Given the description of an element on the screen output the (x, y) to click on. 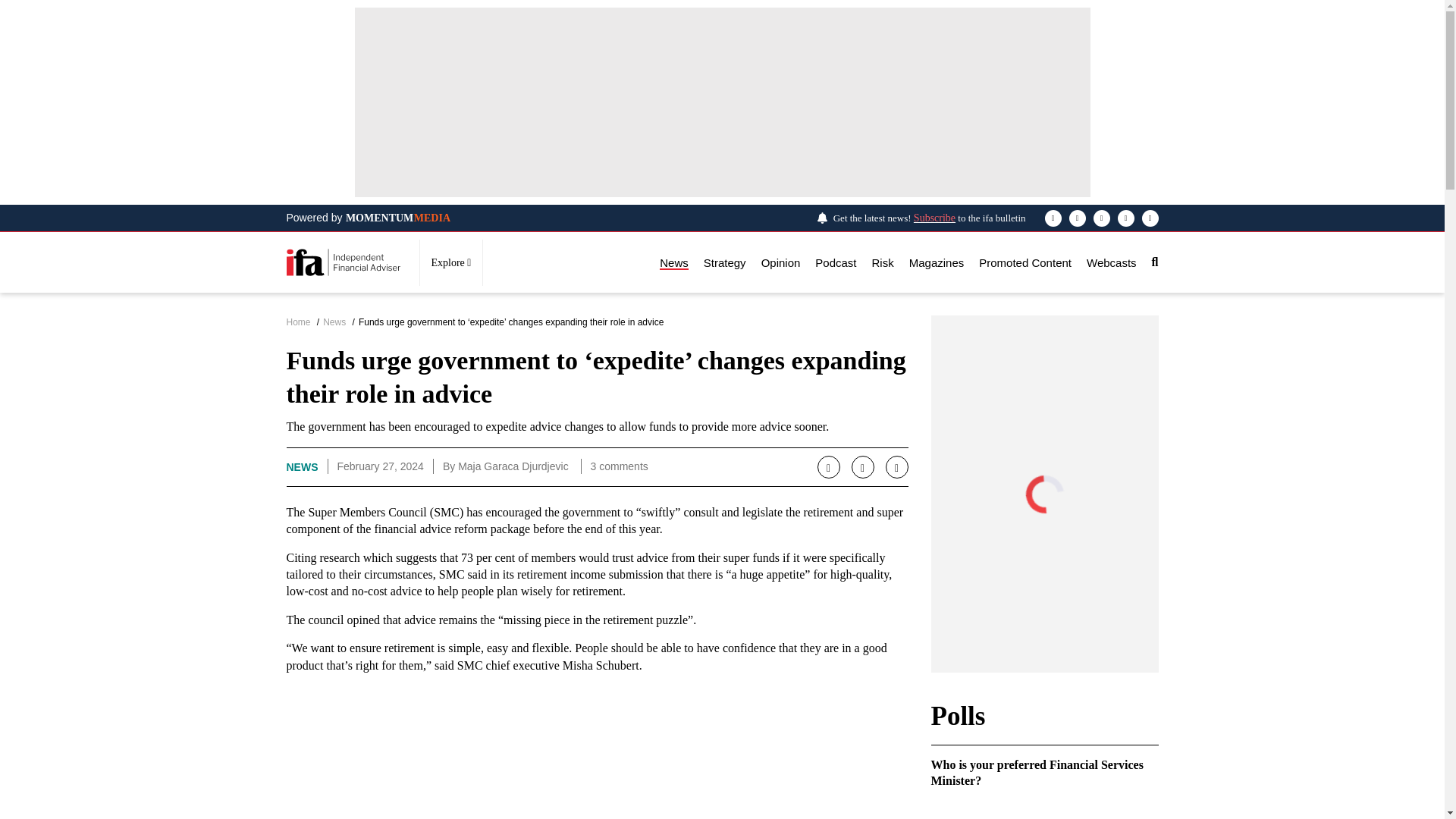
Podcast (835, 261)
Webcasts (1111, 261)
Subscribe (934, 217)
News (673, 262)
Strategy (724, 261)
Powered by MOMENTUM MEDIA (368, 217)
Opinion (780, 261)
Risk (882, 261)
Promoted Content (1024, 261)
Magazines (935, 261)
